Given the description of an element on the screen output the (x, y) to click on. 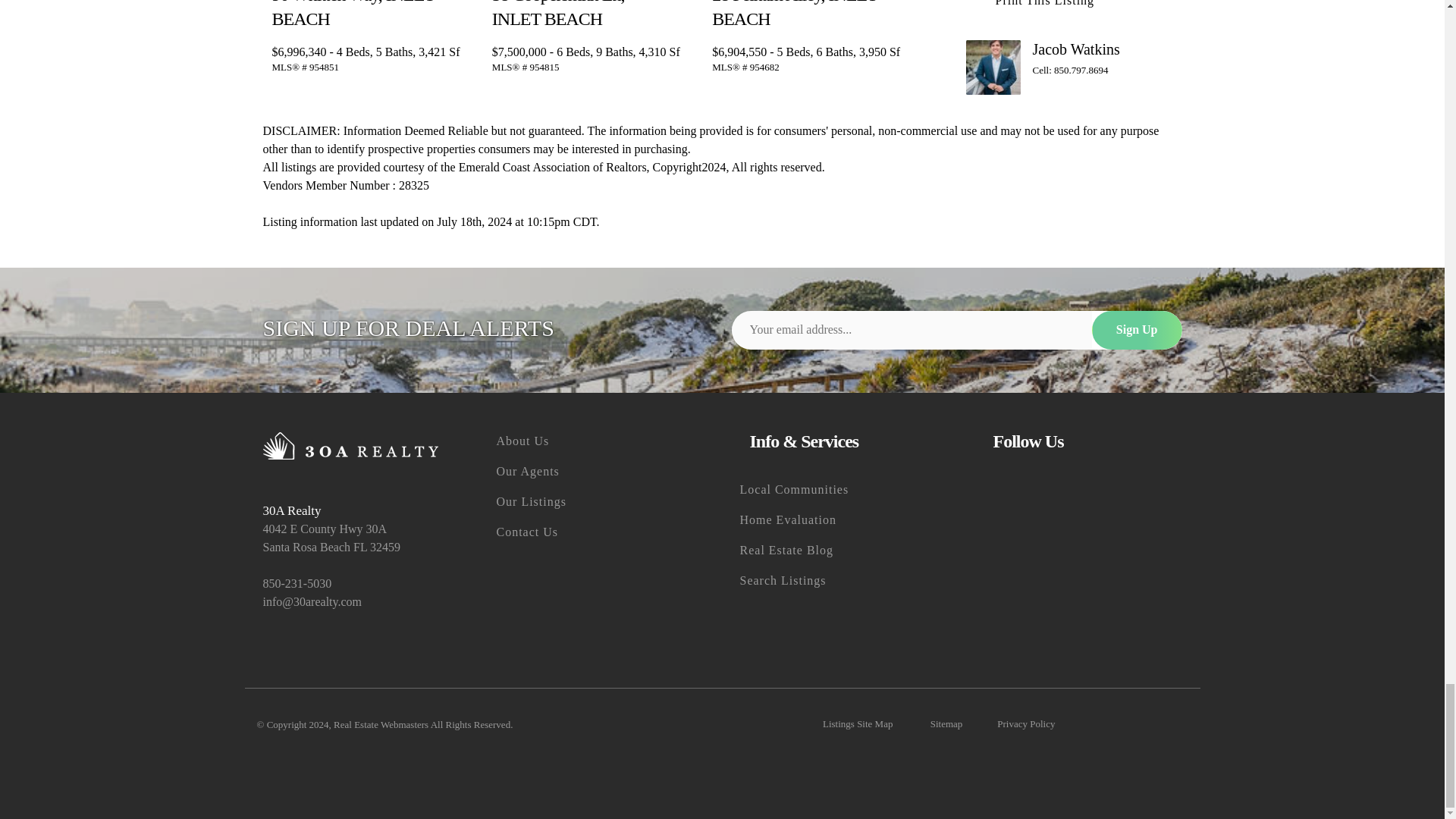
Site Logo (350, 445)
